Given the description of an element on the screen output the (x, y) to click on. 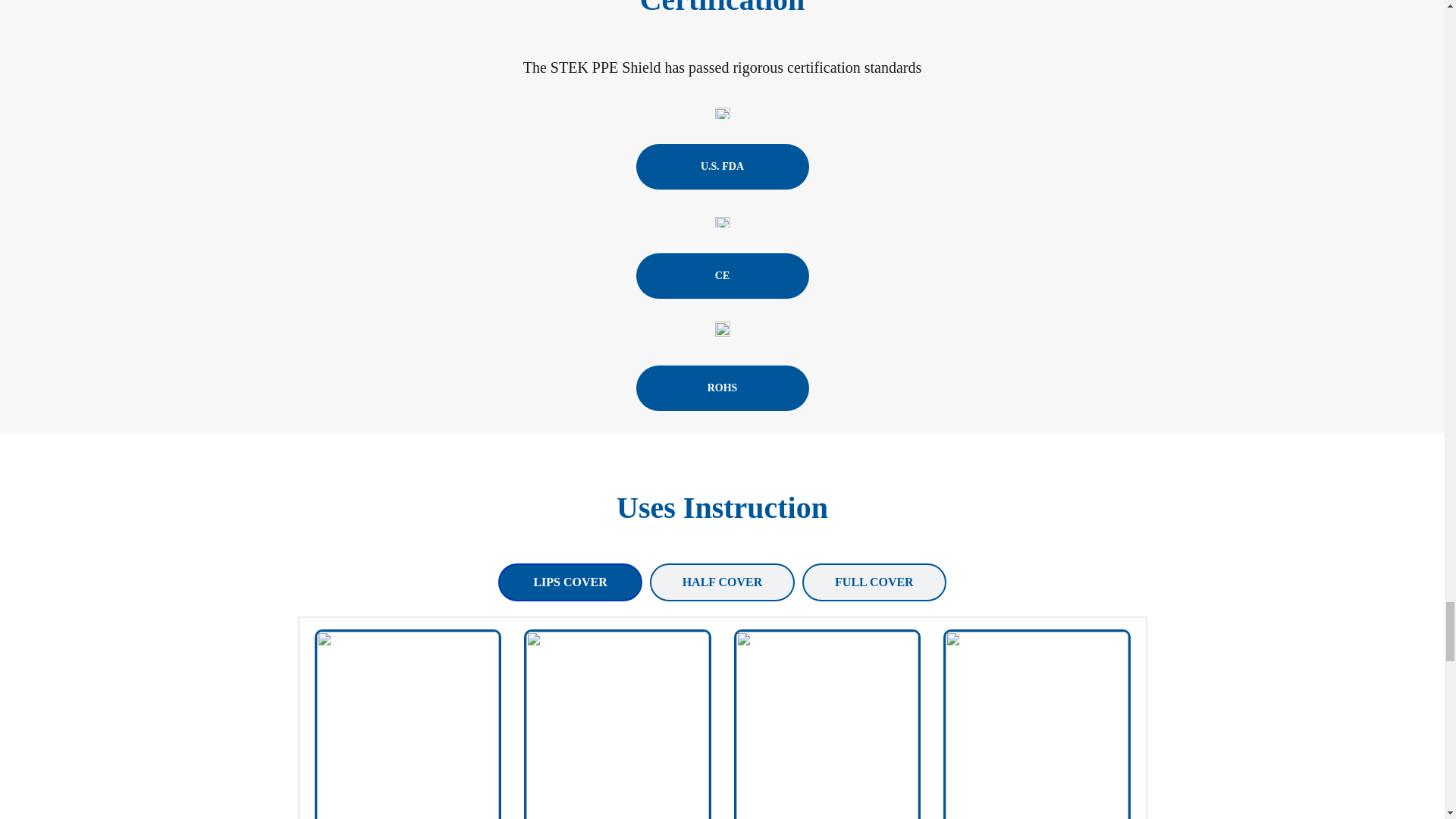
FULL COVER (874, 582)
CE (721, 275)
HALF COVER (721, 582)
ROHS (721, 388)
LIPS COVER (569, 582)
U.S. FDA (721, 166)
